Given the description of an element on the screen output the (x, y) to click on. 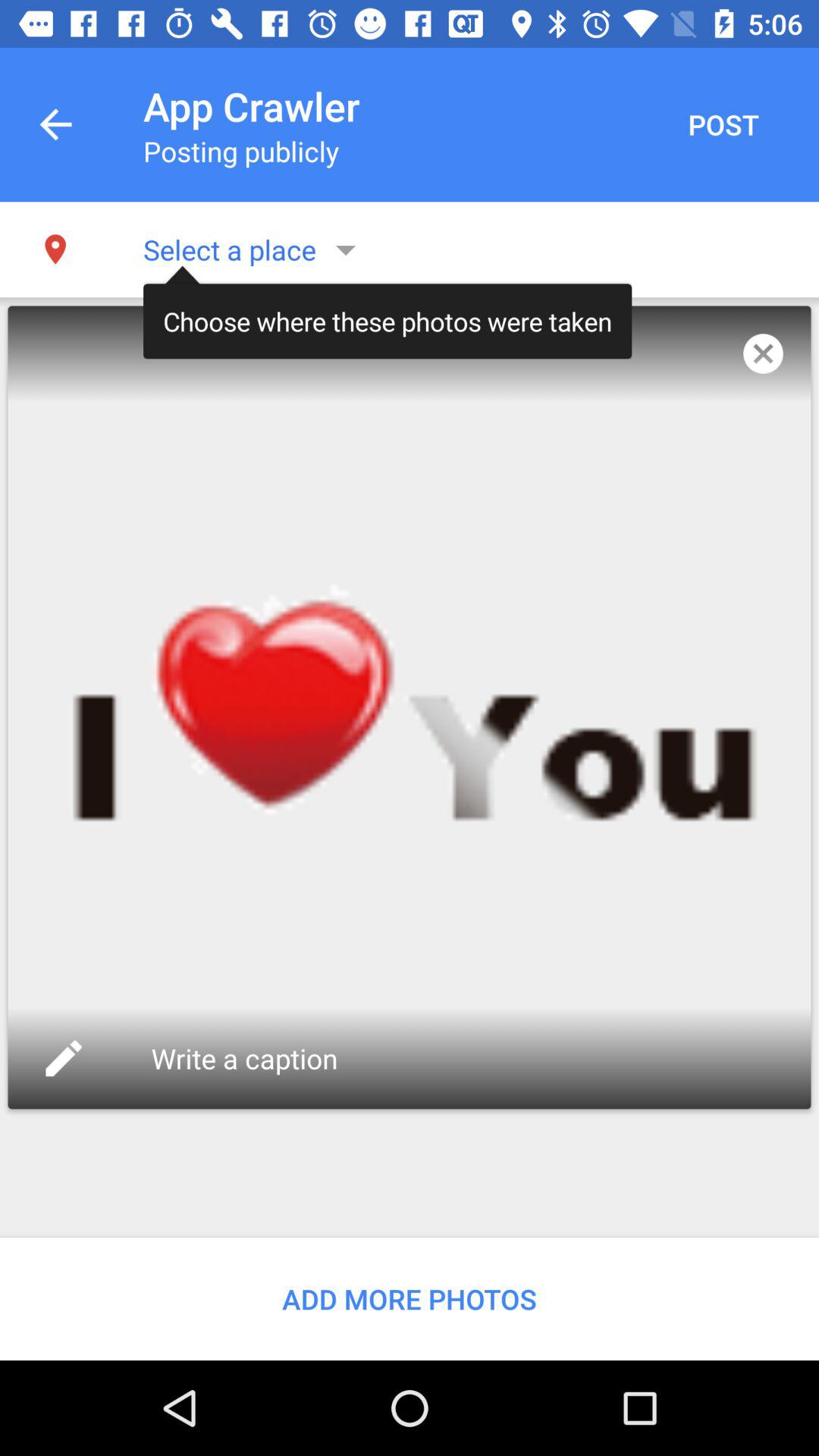
tap the icon next to the app crawler item (55, 124)
